Given the description of an element on the screen output the (x, y) to click on. 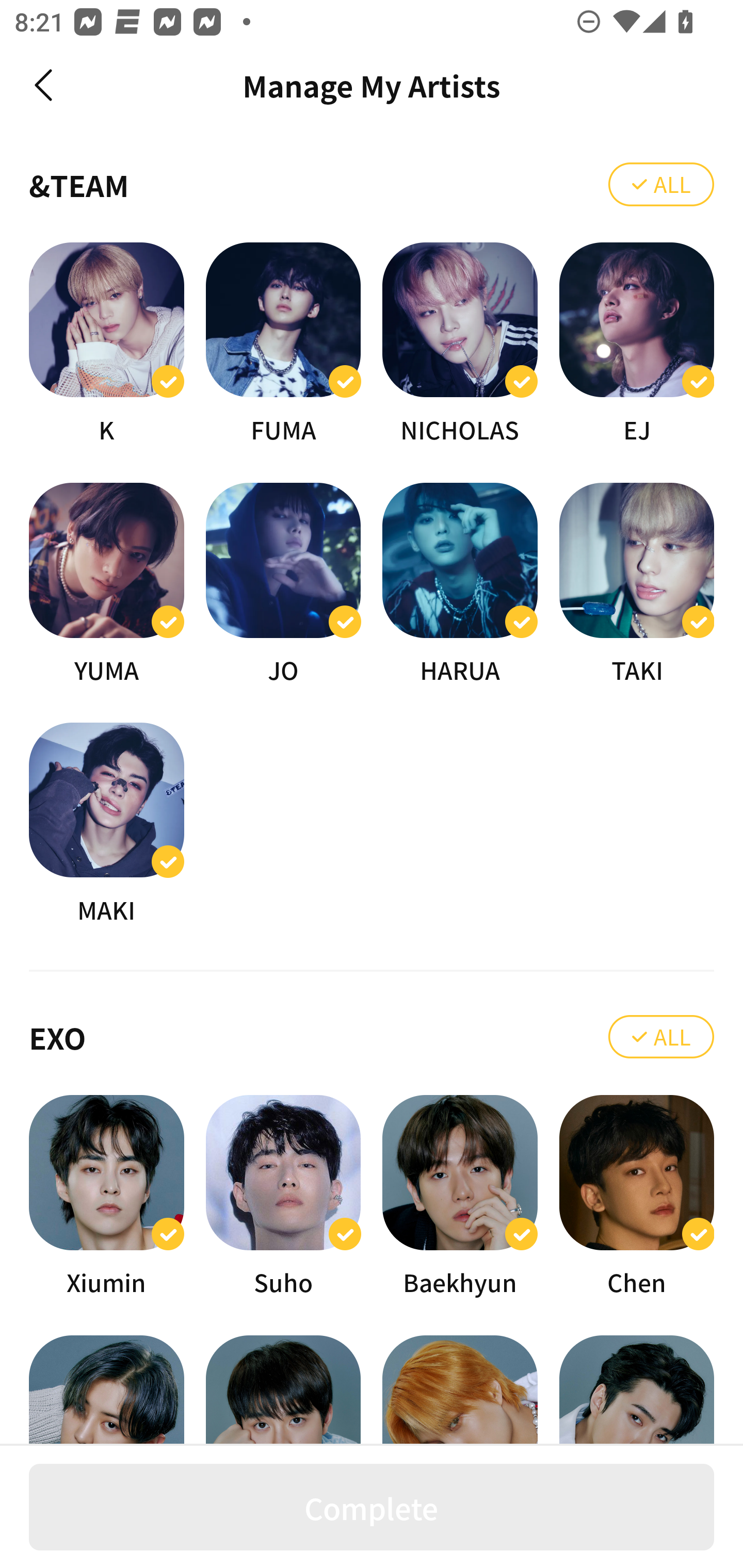
ALL (661, 184)
K (106, 344)
FUMA (282, 344)
NICHOLAS (459, 344)
EJ (636, 344)
YUMA (106, 584)
JO (282, 584)
HARUA (459, 584)
TAKI (636, 584)
MAKI (106, 824)
ALL (661, 1036)
Xiumin (106, 1196)
Suho (282, 1196)
Baekhyun (459, 1196)
Chen (636, 1196)
Complete (371, 1507)
